Given the description of an element on the screen output the (x, y) to click on. 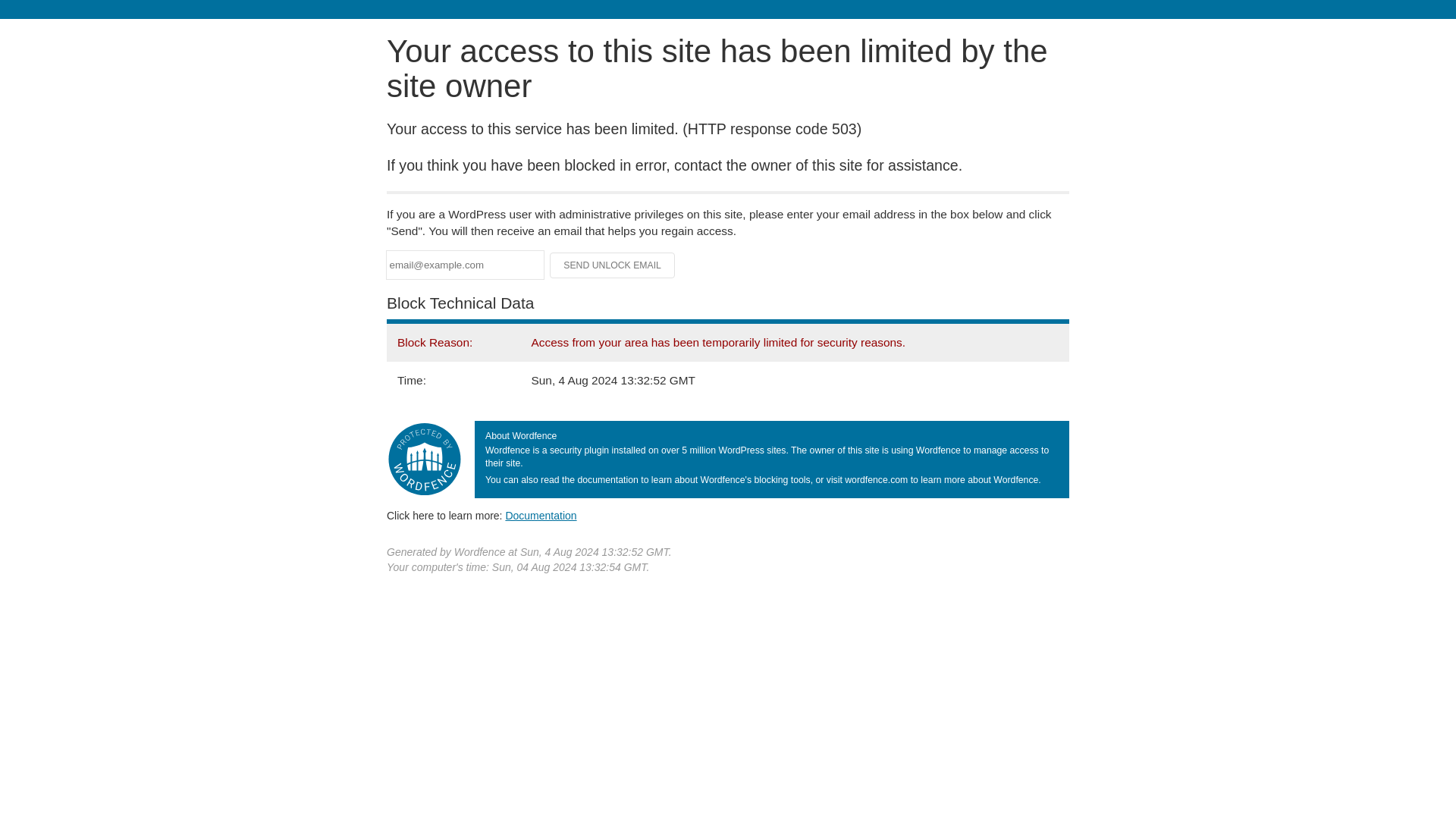
Send Unlock Email (612, 265)
Documentation (540, 515)
Send Unlock Email (612, 265)
